Given the description of an element on the screen output the (x, y) to click on. 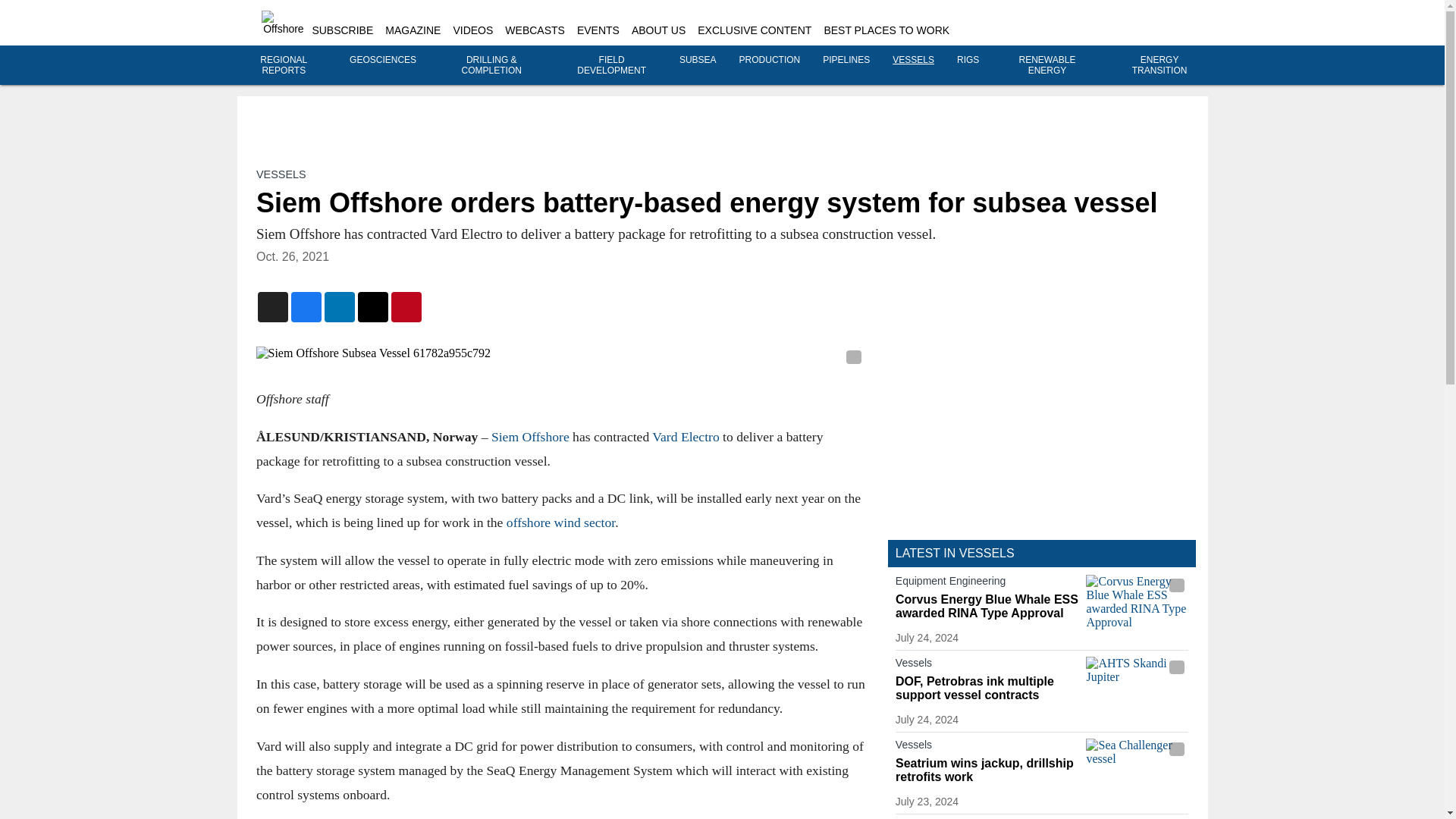
FIELD DEVELOPMENT (611, 65)
PIPELINES (845, 59)
AHTS Skandi Jupiter (1137, 684)
Sea Challenger vessel (1137, 766)
Vessels (986, 747)
Siem Offshore (529, 435)
LATEST IN VESSELS (954, 553)
Equipment Engineering (986, 583)
ENERGY TRANSITION (1160, 65)
PRODUCTION (769, 59)
VESSELS (280, 174)
Corvus Energy Blue Whale ESS awarded RINA Type Approval (1137, 602)
ABOUT US (658, 30)
BEST PLACES TO WORK (886, 30)
DOF, Petrobras ink multiple support vessel contracts (986, 687)
